Given the description of an element on the screen output the (x, y) to click on. 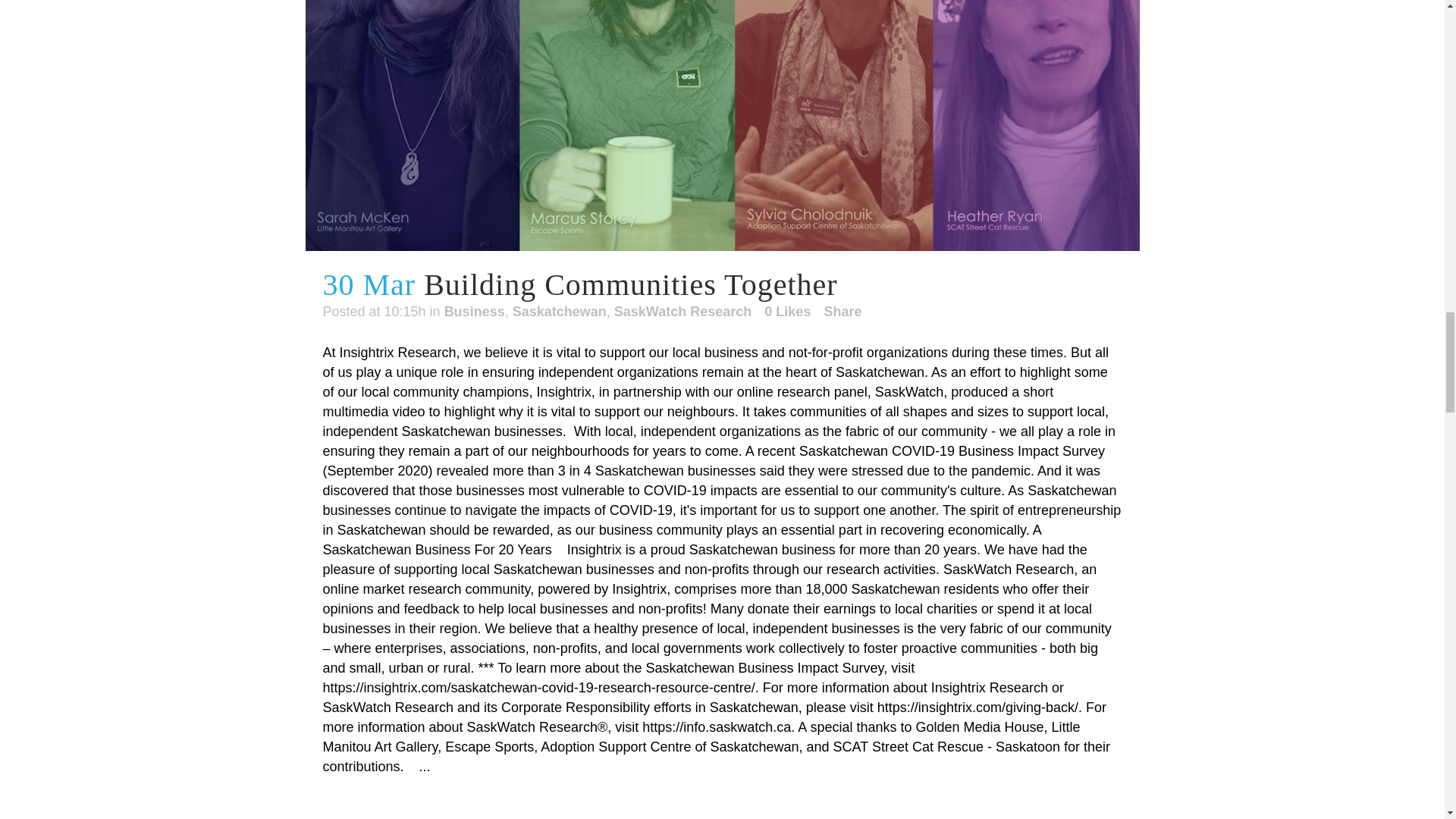
Building Communities Together (630, 284)
Like this (787, 311)
